Given the description of an element on the screen output the (x, y) to click on. 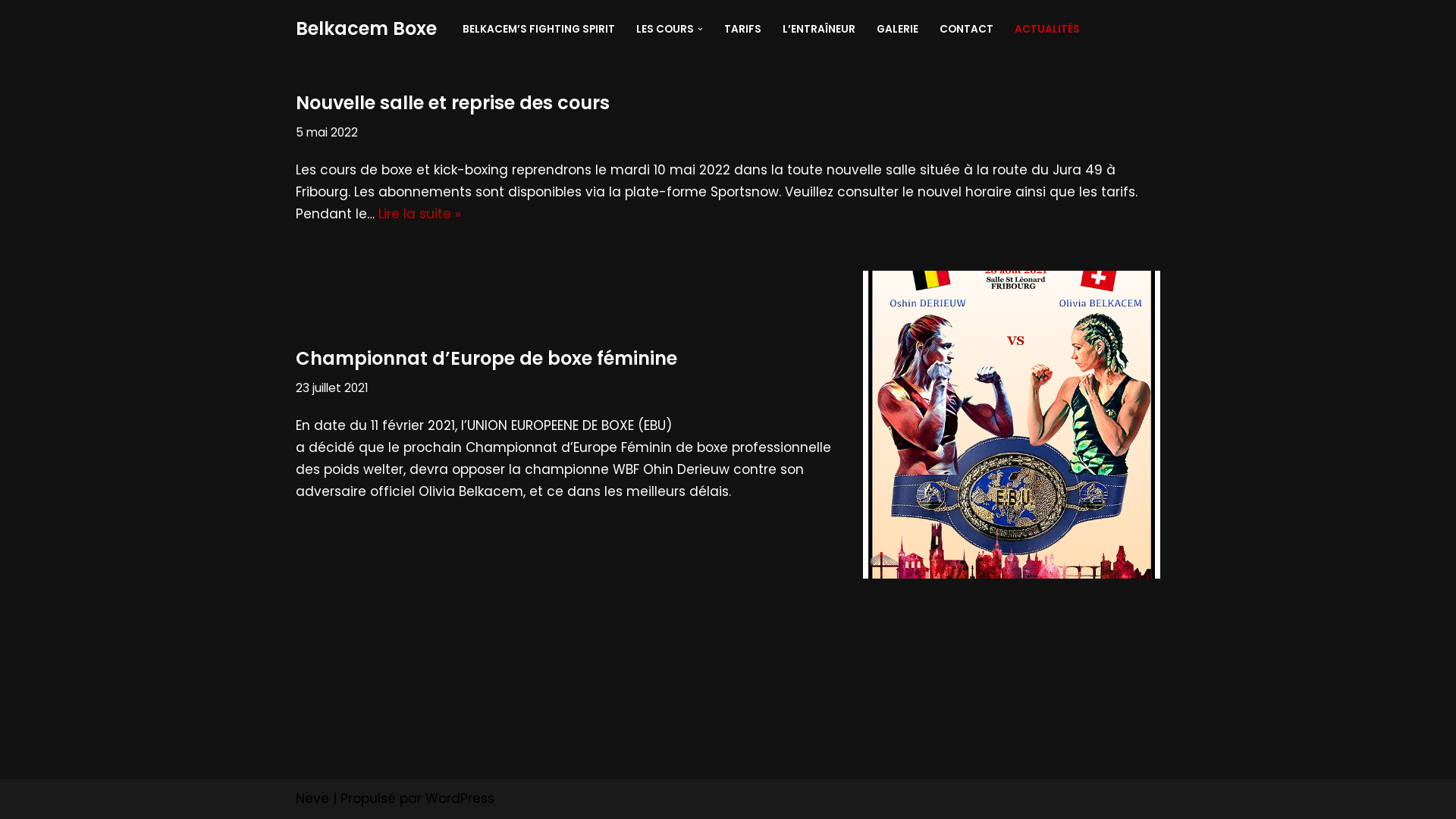
Aller au contenu Element type: text (739, 31)
GALERIE Element type: text (897, 28)
WordPress Element type: text (459, 798)
Belkacem Boxe Element type: text (365, 28)
TARIFS Element type: text (742, 28)
Nouvelle salle et reprise des cours Element type: text (452, 102)
Neve Element type: text (312, 798)
CONTACT Element type: text (966, 28)
LES COURS Element type: text (664, 28)
